Given the description of an element on the screen output the (x, y) to click on. 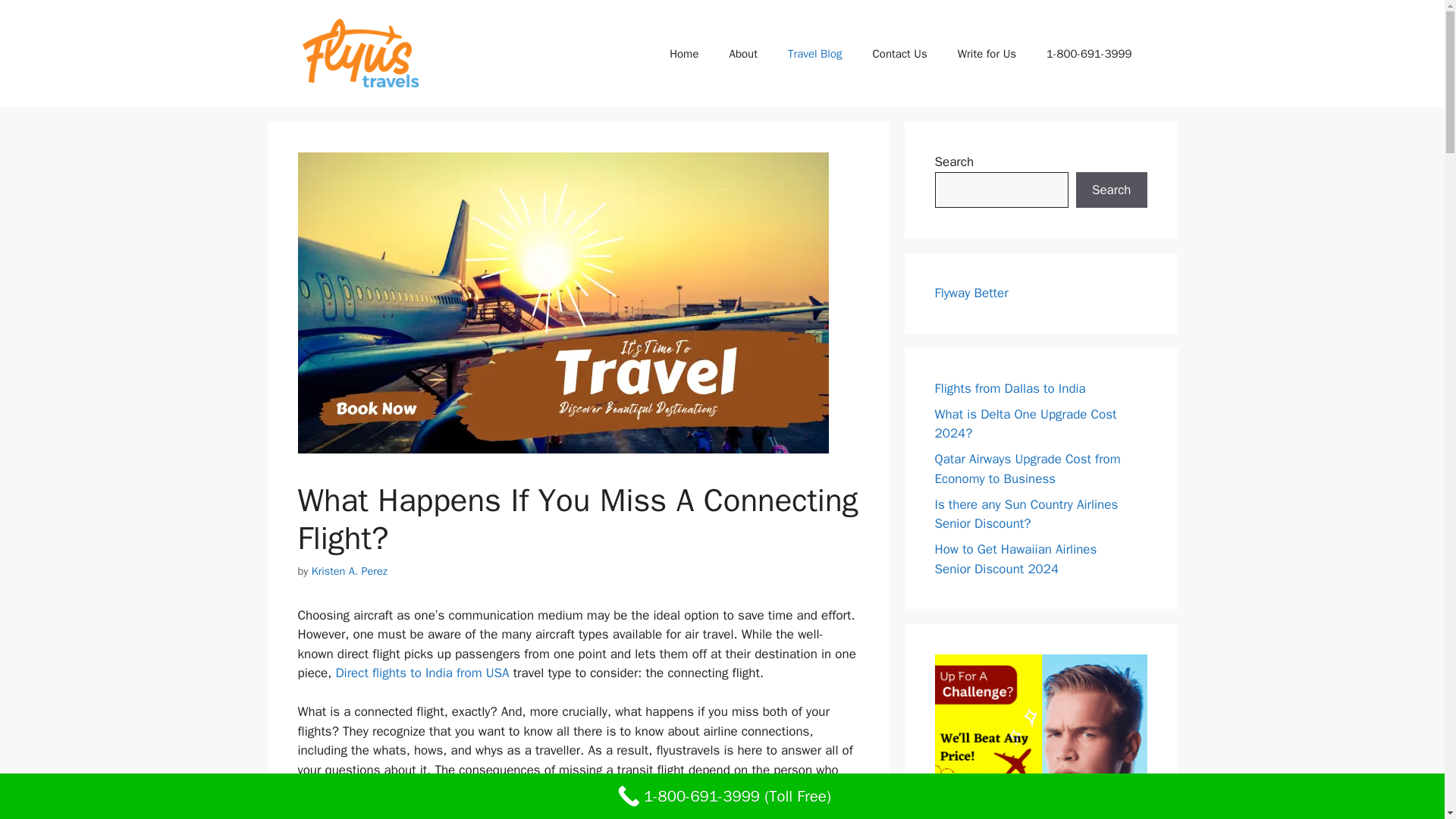
1-800-691-3999 (1088, 53)
Write for Us (986, 53)
View all posts by Kristen A. Perez (349, 571)
Travel Blog (815, 53)
Kristen A. Perez (349, 571)
What is Delta One Upgrade Cost 2024? (1025, 424)
About (742, 53)
Flights from Dallas to India (1009, 388)
Direct flights to India from USA (421, 672)
Home (683, 53)
Contact Us (899, 53)
Search (1111, 189)
Is there any Sun Country Airlines Senior Discount? (1026, 513)
Flyway Better (970, 293)
How to Get Hawaiian Airlines Senior Discount 2024 (1015, 559)
